Given the description of an element on the screen output the (x, y) to click on. 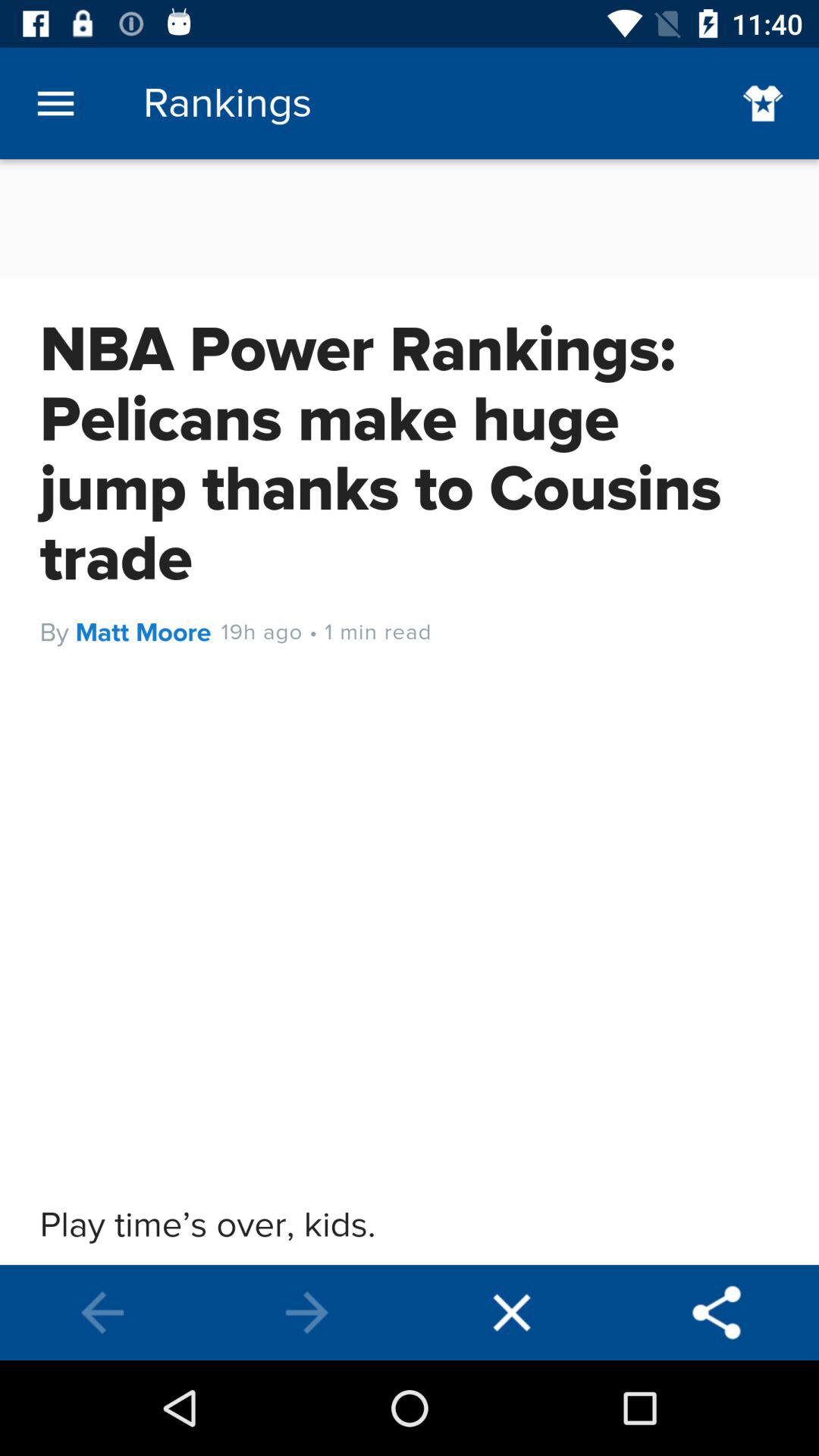
go to next (306, 1312)
